Given the description of an element on the screen output the (x, y) to click on. 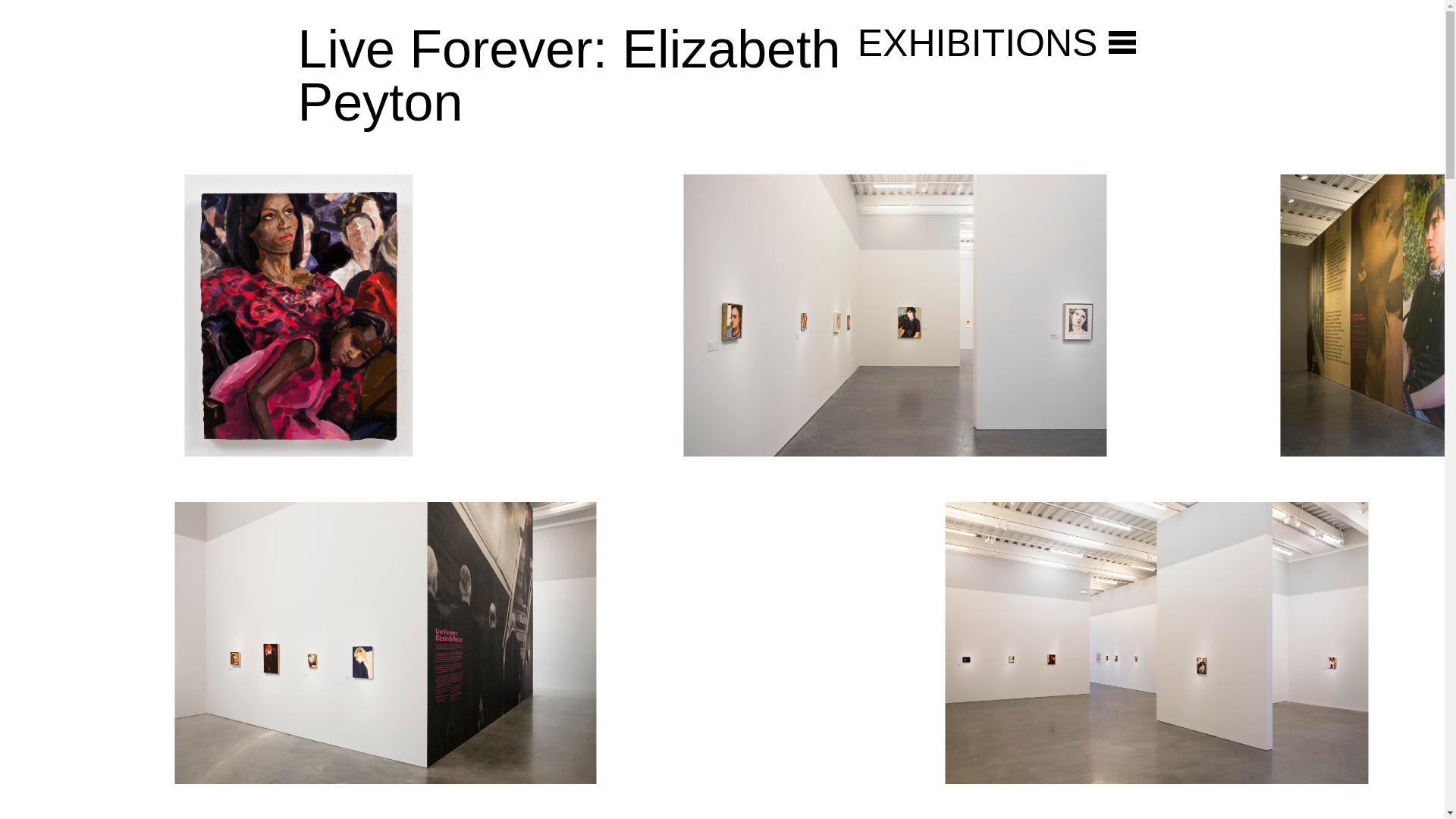
EXHIBITIONS (977, 43)
